Given the description of an element on the screen output the (x, y) to click on. 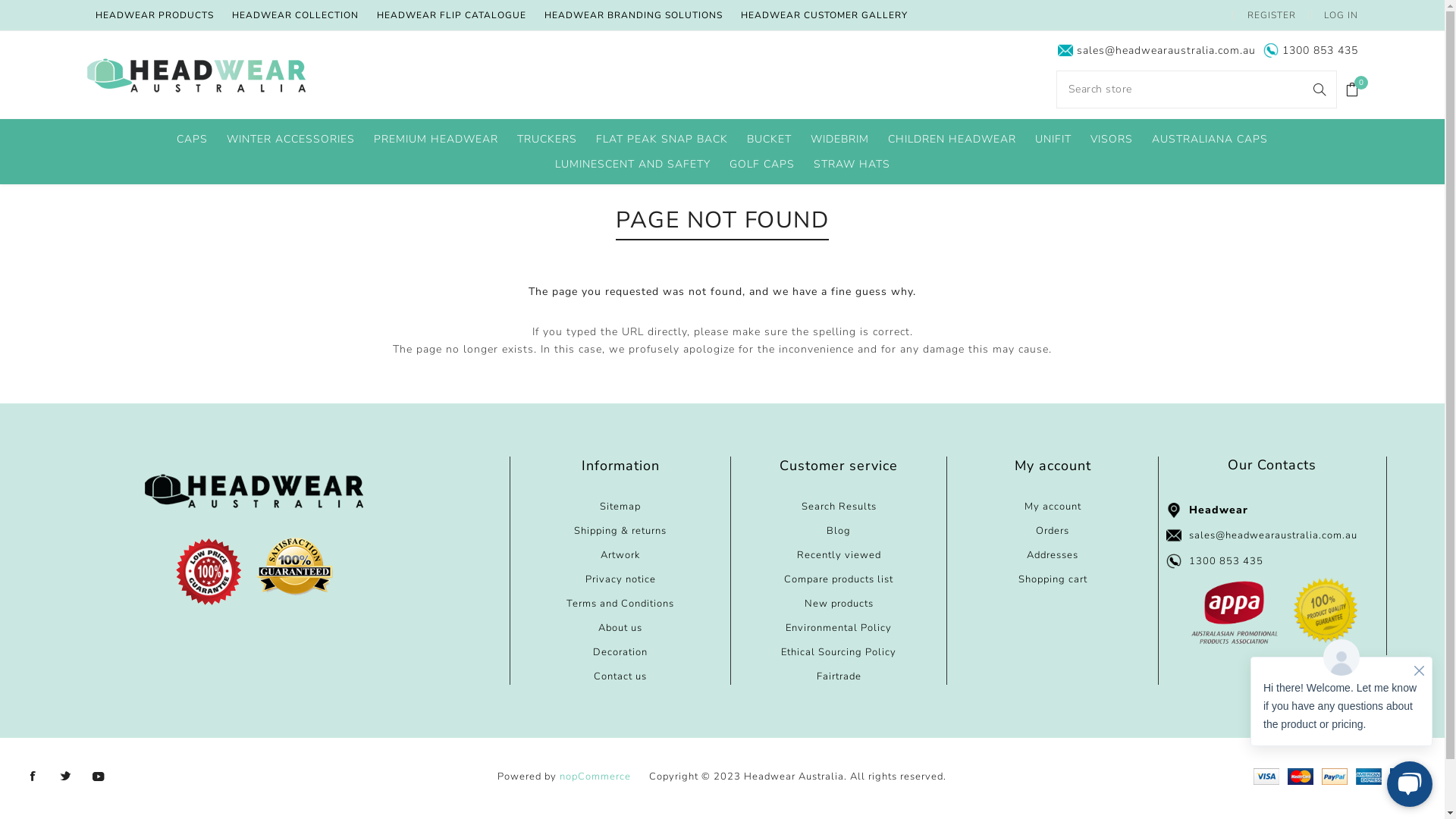
HEADWEAR CUSTOMER GALLERY Element type: text (823, 15)
WIDEBRIM Element type: text (839, 138)
Ethical Sourcing Policy Element type: text (838, 652)
REGISTER Element type: text (1271, 15)
Search Element type: text (1318, 88)
Decoration Element type: text (620, 652)
HEADWEAR COLLECTION Element type: text (295, 15)
Recently viewed Element type: text (839, 554)
PREMIUM HEADWEAR Element type: text (435, 138)
TRUCKERS Element type: text (547, 138)
Shopping cart Element type: text (1052, 579)
1300 853 435 Element type: text (1320, 49)
GOLF CAPS Element type: text (761, 163)
Privacy notice Element type: text (620, 579)
sales@headwearaustralia.com.au Element type: text (1165, 49)
HEADWEAR PRODUCTS Element type: text (154, 15)
0 Element type: text (1352, 88)
Contact us Element type: text (619, 676)
HEADWEAR BRANDING SOLUTIONS Element type: text (633, 15)
AUSTRALIANA CAPS Element type: text (1209, 138)
Terms and Conditions Element type: text (620, 603)
Fairtrade Element type: text (838, 676)
Artwork Element type: text (620, 554)
HEADWEAR FLIP CATALOGUE Element type: text (451, 15)
Environmental Policy Element type: text (838, 627)
CAPS Element type: text (191, 138)
My account Element type: text (1052, 506)
LUMINESCENT AND SAFETY Element type: text (632, 163)
BUCKET Element type: text (768, 138)
UNIFIT Element type: text (1053, 138)
Compare products list Element type: text (838, 579)
About us Element type: text (620, 627)
Shipping & returns Element type: text (620, 530)
LOG IN Element type: text (1341, 15)
FLAT PEAK SNAP BACK Element type: text (662, 138)
Addresses Element type: text (1052, 554)
sales@headwearaustralia.com.au Element type: text (1273, 535)
New products Element type: text (838, 603)
1300 853 435 Element type: text (1226, 561)
nopCommerce Element type: text (594, 775)
Orders Element type: text (1052, 530)
Search Results Element type: text (838, 506)
CHILDREN HEADWEAR Element type: text (952, 138)
Sitemap Element type: text (619, 506)
STRAW HATS Element type: text (850, 163)
Blog Element type: text (838, 530)
VISORS Element type: text (1111, 138)
WINTER ACCESSORIES Element type: text (290, 138)
